Given the description of an element on the screen output the (x, y) to click on. 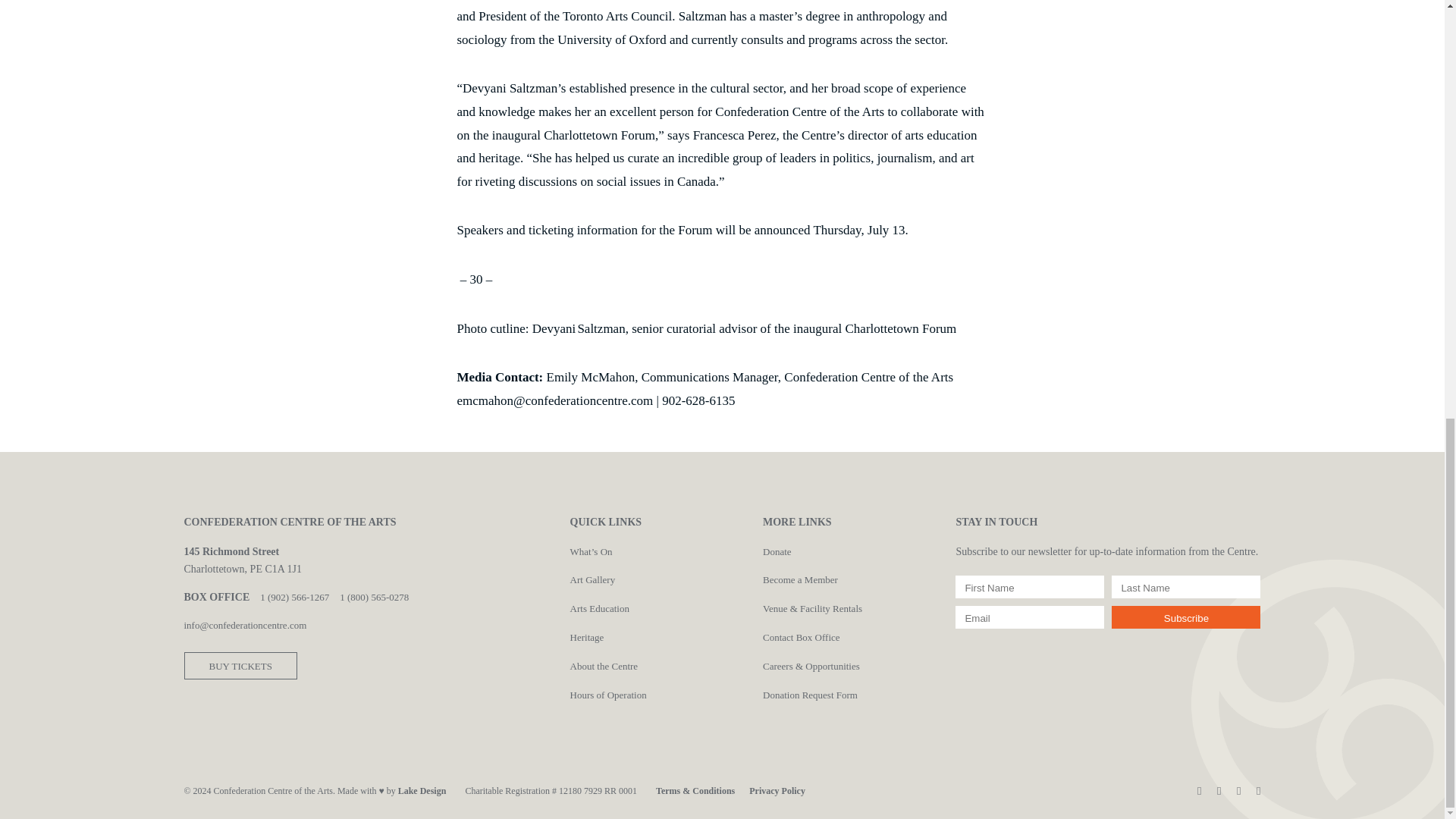
Subscribe (1186, 617)
